Given the description of an element on the screen output the (x, y) to click on. 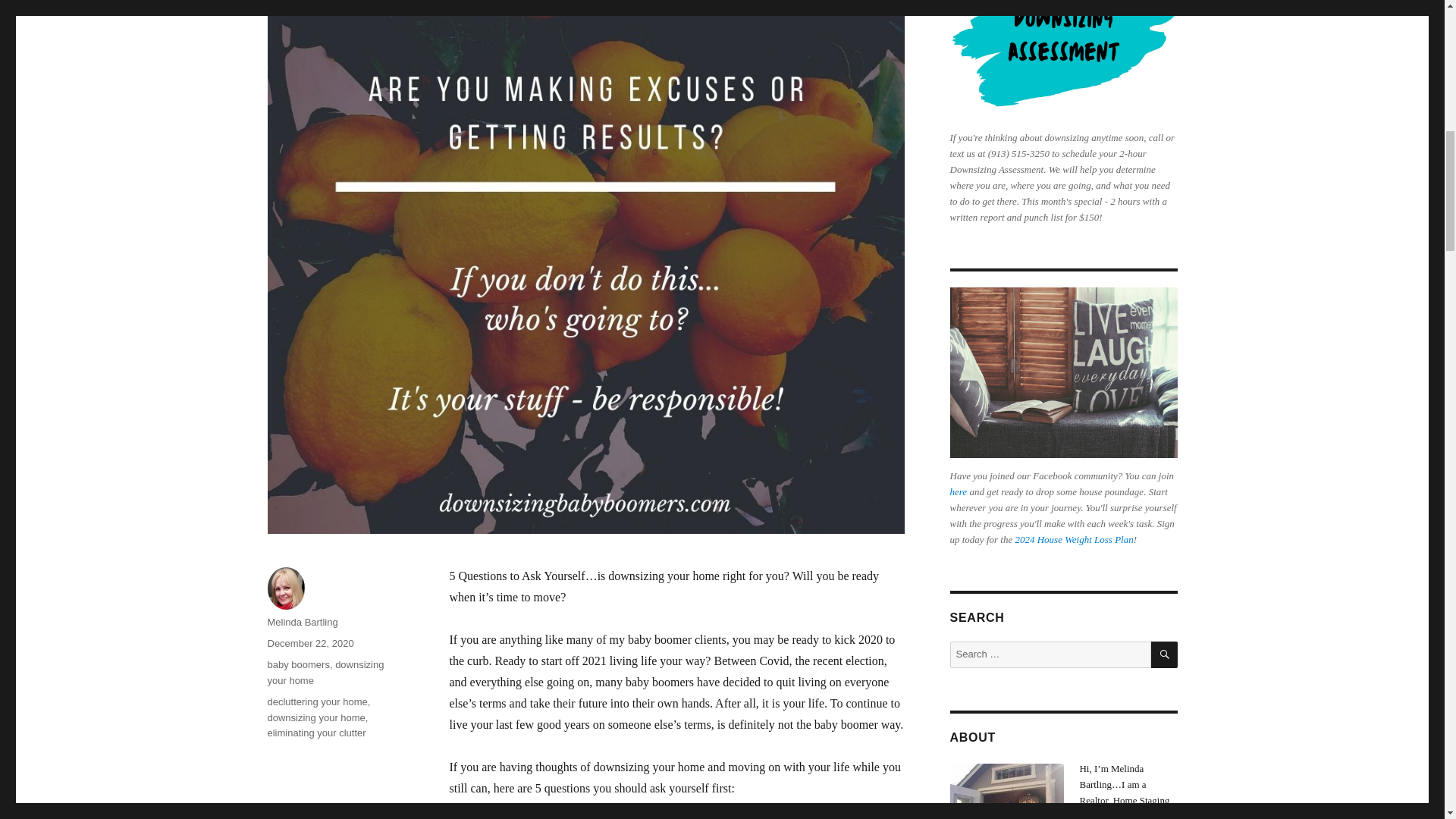
2024 House Weight Loss Plan (1073, 539)
Melinda Bartling (301, 622)
SEARCH (1164, 654)
eliminating your clutter (315, 732)
December 22, 2020 (309, 643)
baby boomers (297, 664)
here (957, 491)
downsizing your home (325, 672)
decluttering your home (316, 701)
downsizing your home (315, 716)
